Given the description of an element on the screen output the (x, y) to click on. 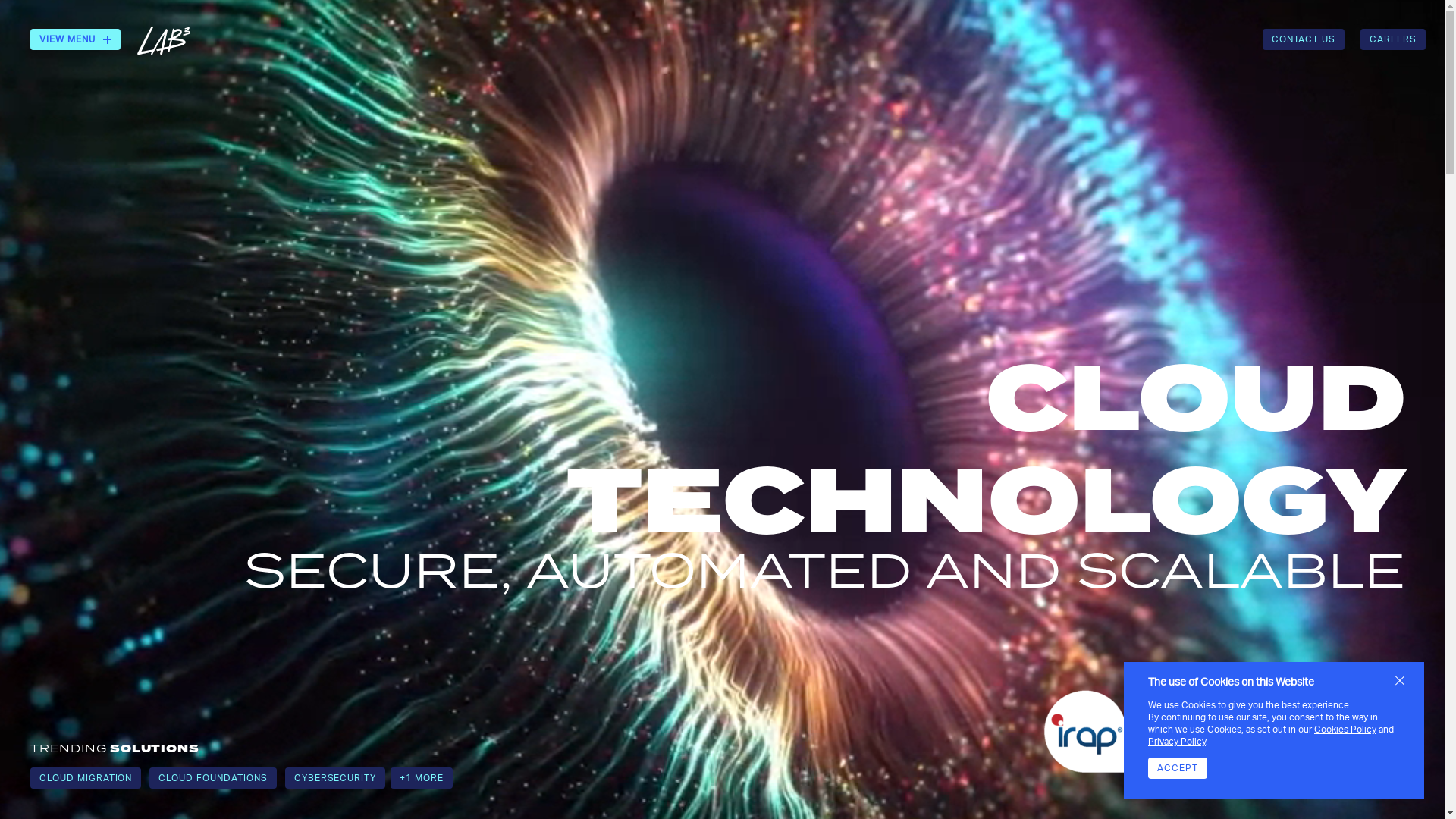
ACCEPT Element type: text (1177, 767)
CLOUD FOUNDATIONS Element type: text (212, 777)
Privacy Policy Element type: text (1176, 741)
CYBERSECURITY Element type: text (335, 777)
Cookies Policy Element type: text (1345, 729)
CONTACT US Element type: text (1303, 39)
CAREERS Element type: text (1392, 39)
CLOUD MIGRATION Element type: text (85, 777)
